Given the description of an element on the screen output the (x, y) to click on. 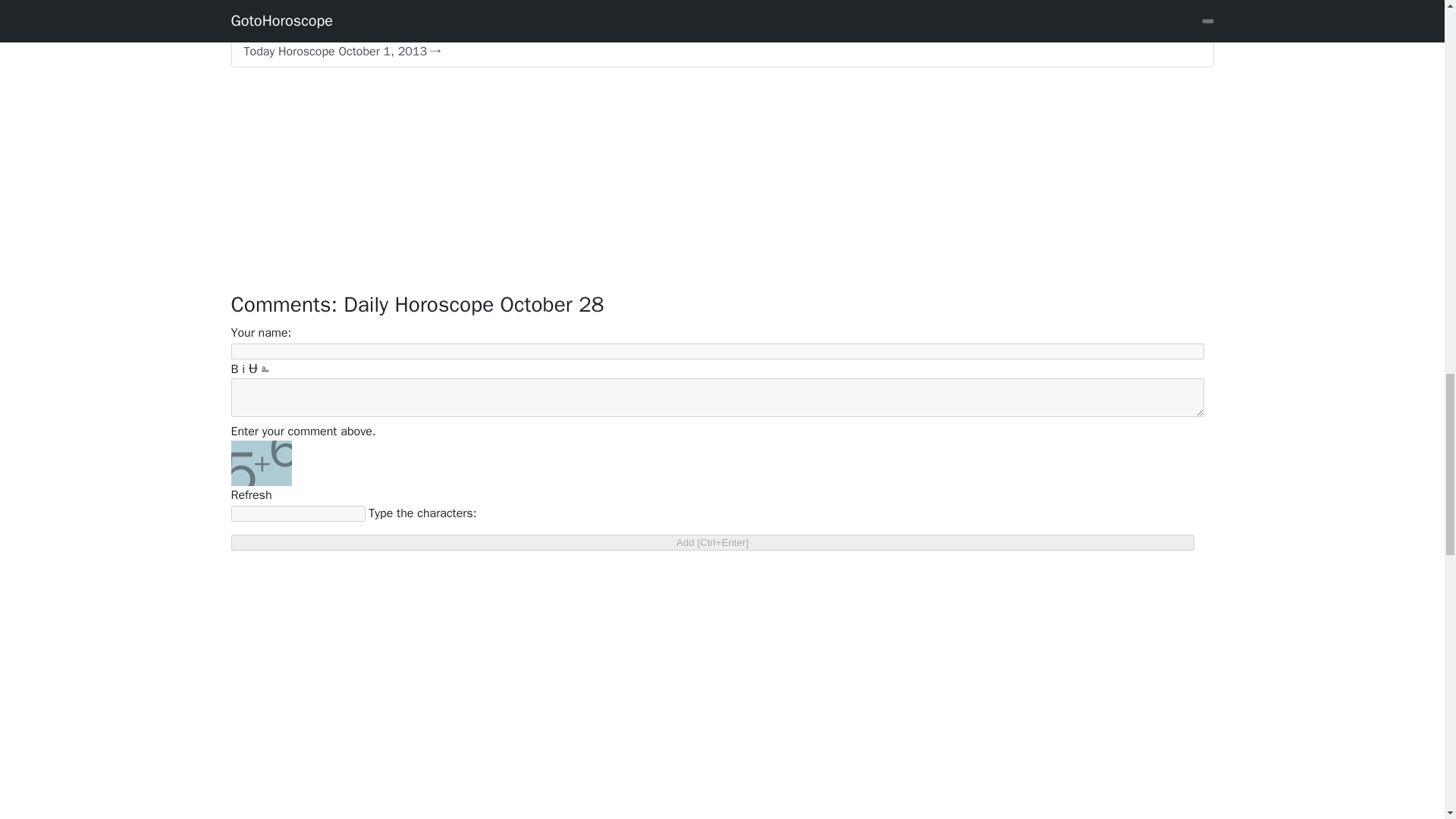
Refresh (250, 494)
Today Horoscope October 31, 2013 (721, 20)
Today Horoscope October 1, 2013 (721, 51)
